Given the description of an element on the screen output the (x, y) to click on. 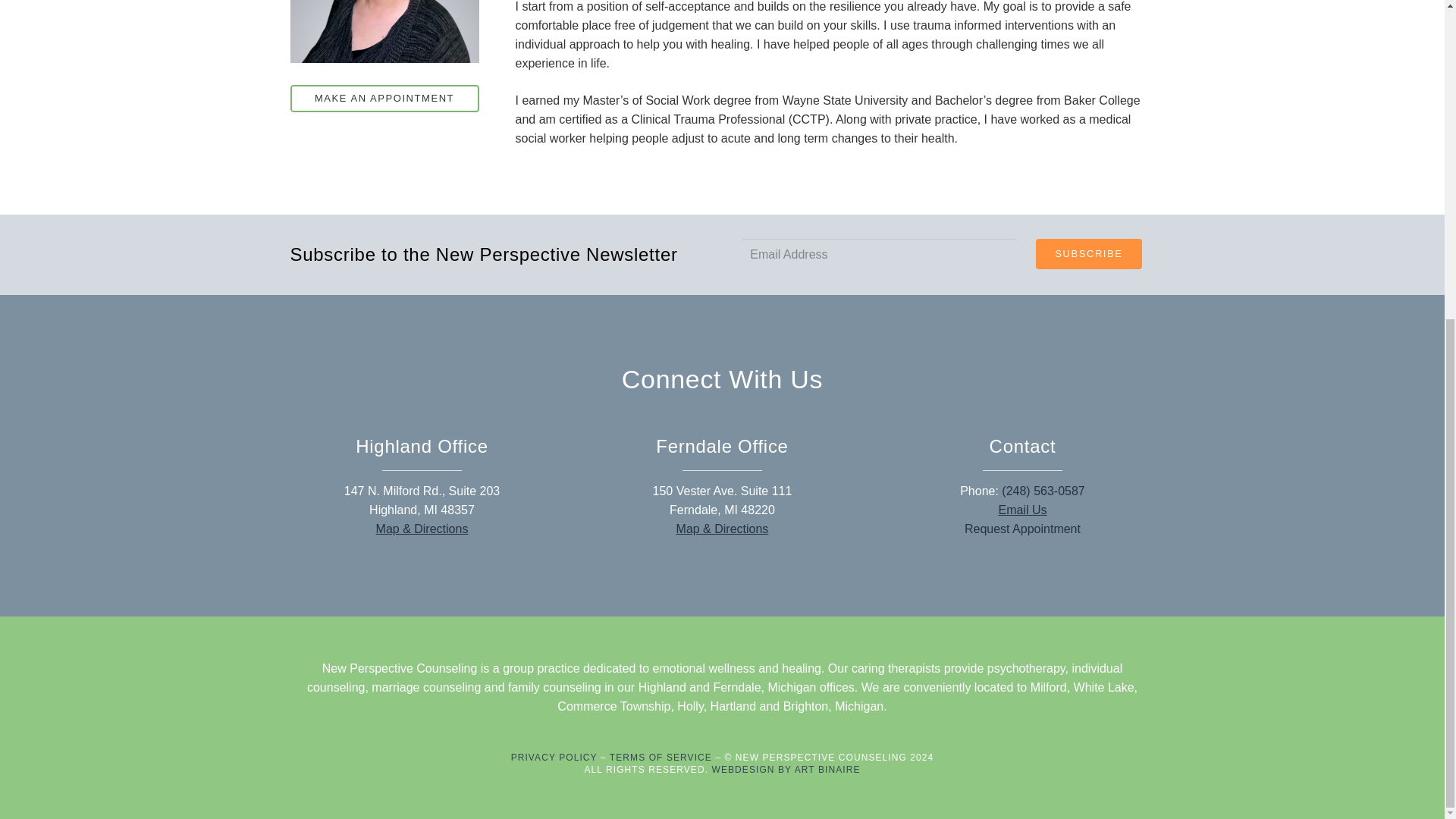
Request Appointment (1021, 528)
MAKE AN APPOINTMENT (384, 98)
TERMS OF SERVICE (660, 757)
Email Us (1021, 509)
Ann Arbor Web Design (785, 769)
Subscribe (1088, 254)
PRIVACY POLICY (553, 757)
WEBDESIGN BY ART BINAIRE (785, 769)
Subscribe (1088, 254)
